Given the description of an element on the screen output the (x, y) to click on. 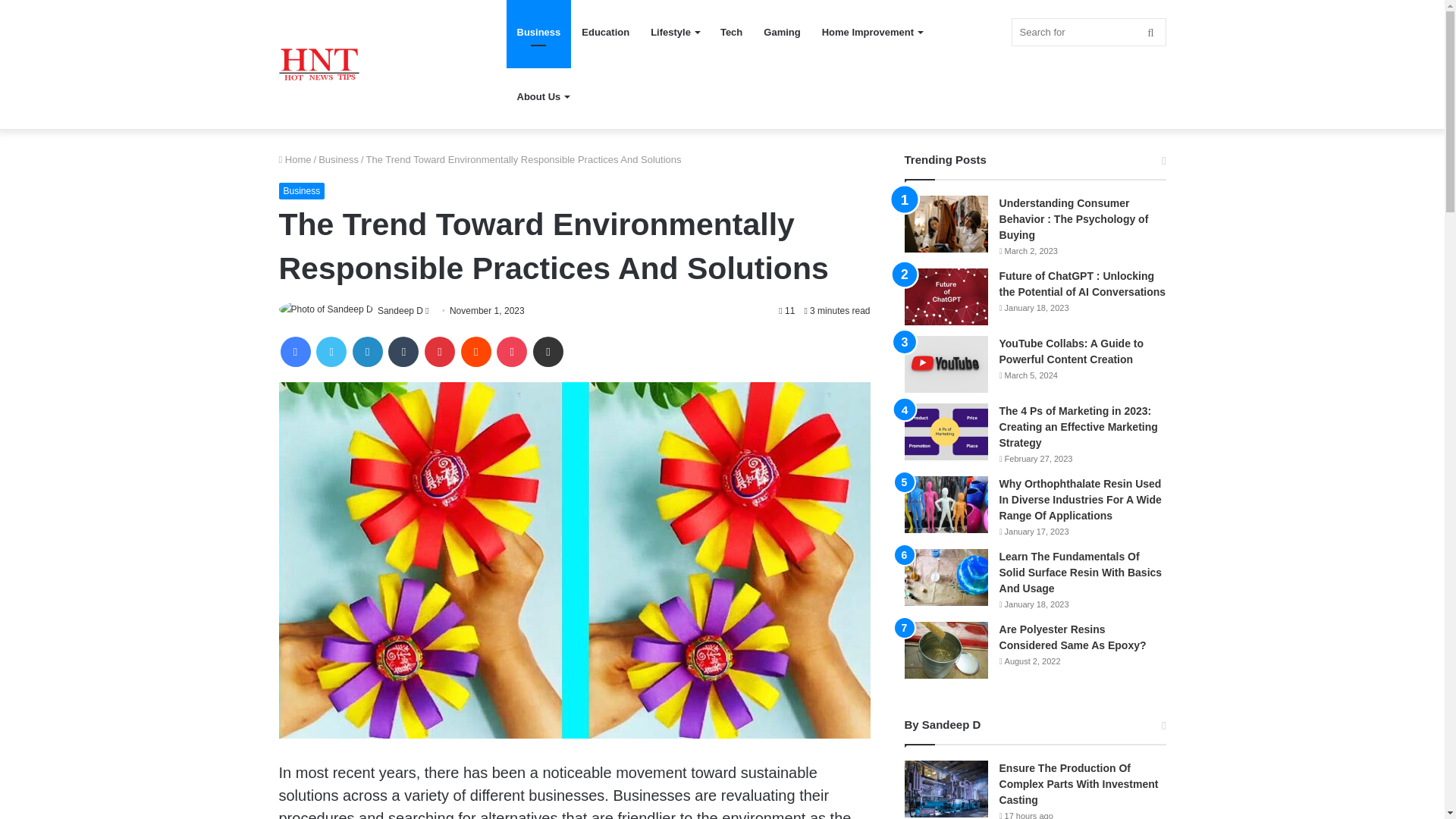
Pinterest (439, 351)
Gaming (781, 32)
Facebook (296, 351)
About Us (542, 96)
Share via Email (547, 351)
Home Improvement (871, 32)
Home (295, 159)
Twitter (330, 351)
Pocket (511, 351)
Pocket (511, 351)
Business (338, 159)
LinkedIn (367, 351)
Search for (1088, 31)
Pinterest (439, 351)
HotNewsTips (319, 63)
